Given the description of an element on the screen output the (x, y) to click on. 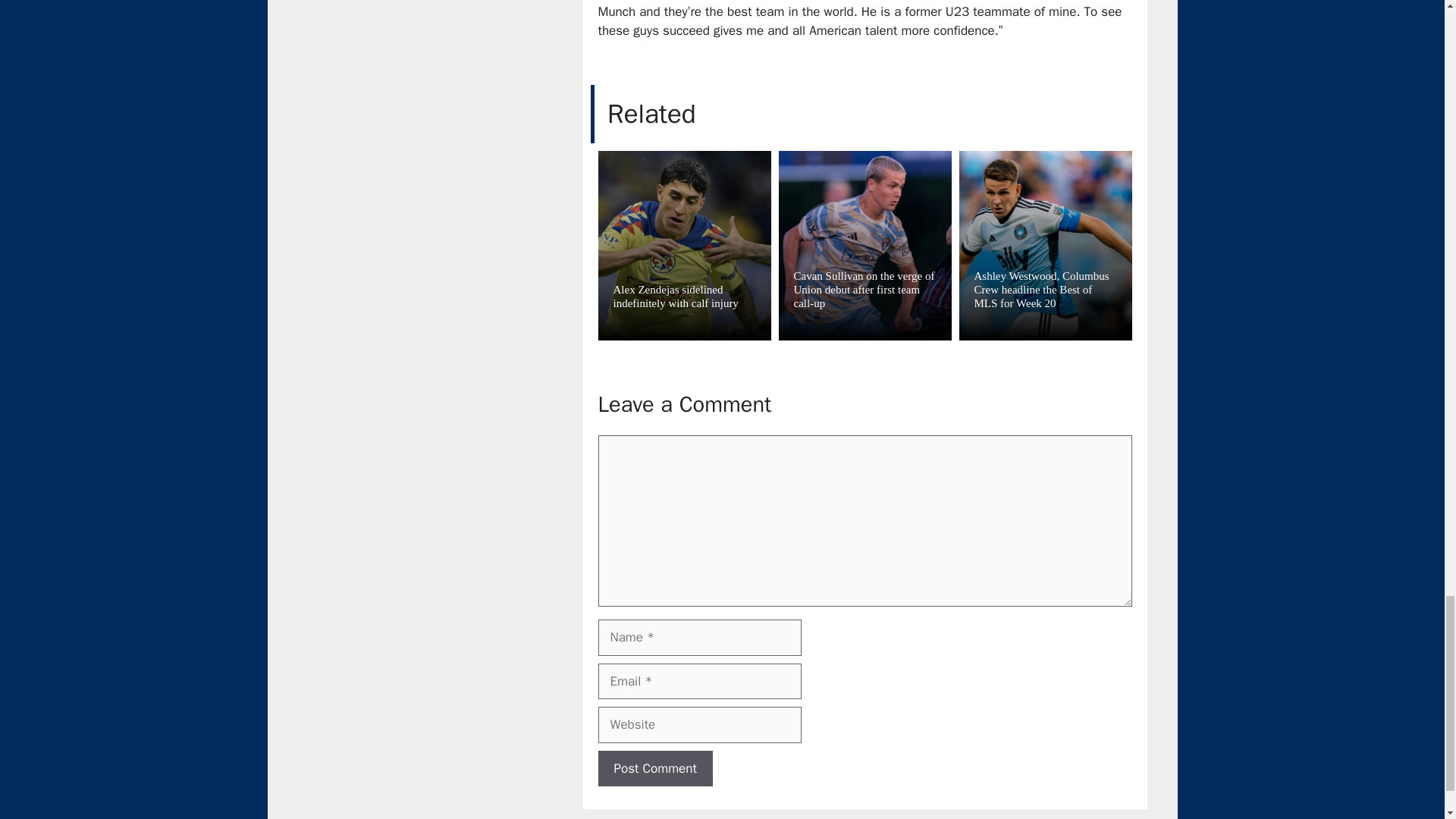
Post Comment (653, 769)
